Given the description of an element on the screen output the (x, y) to click on. 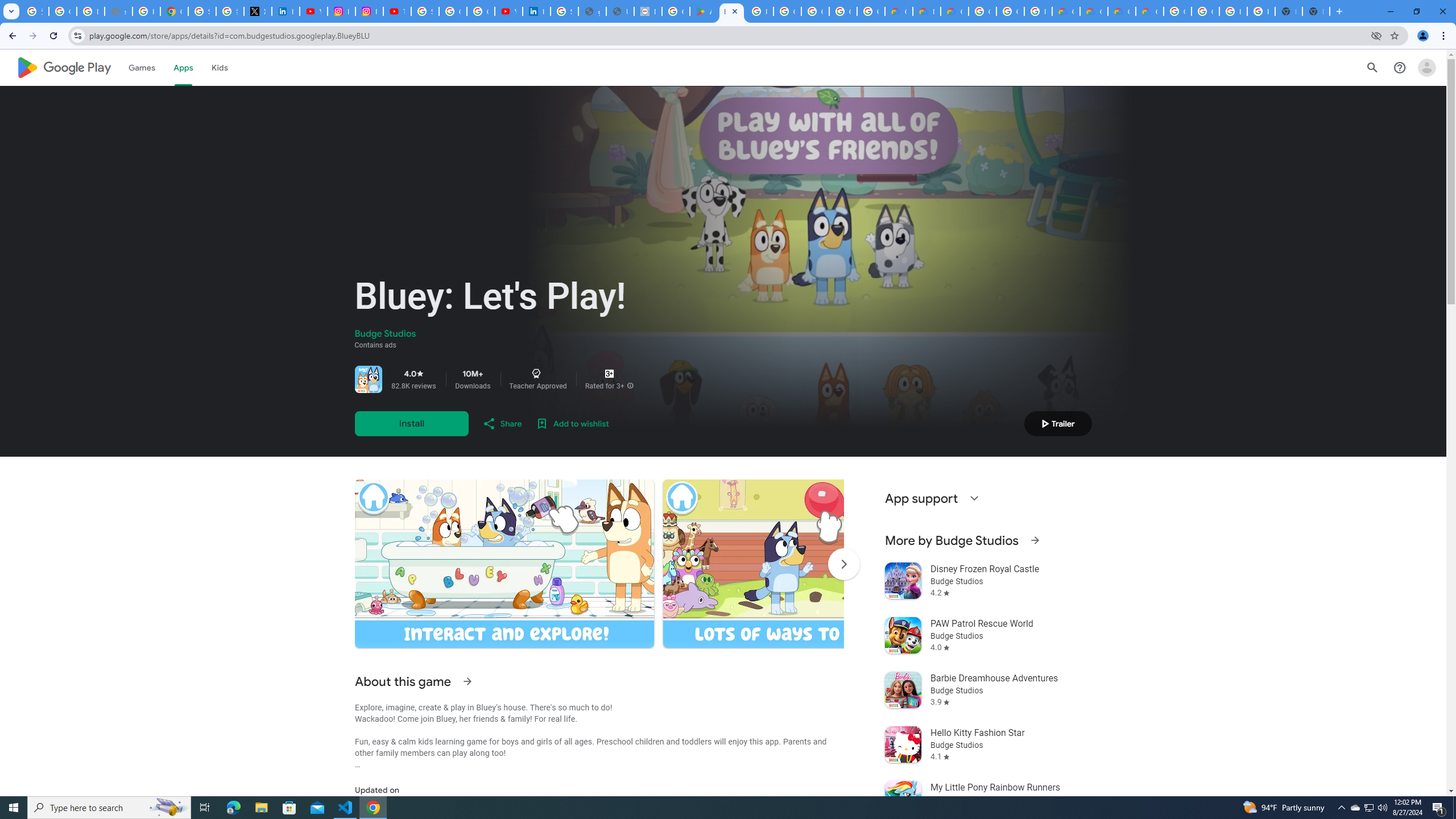
Google Cloud Service Health (1150, 11)
google_privacy_policy_en.pdf (592, 11)
Google Cloud Pricing Calculator (1121, 11)
Sign in - Google Accounts (564, 11)
Expand (973, 497)
Customer Care | Google Cloud (1065, 11)
